Given the description of an element on the screen output the (x, y) to click on. 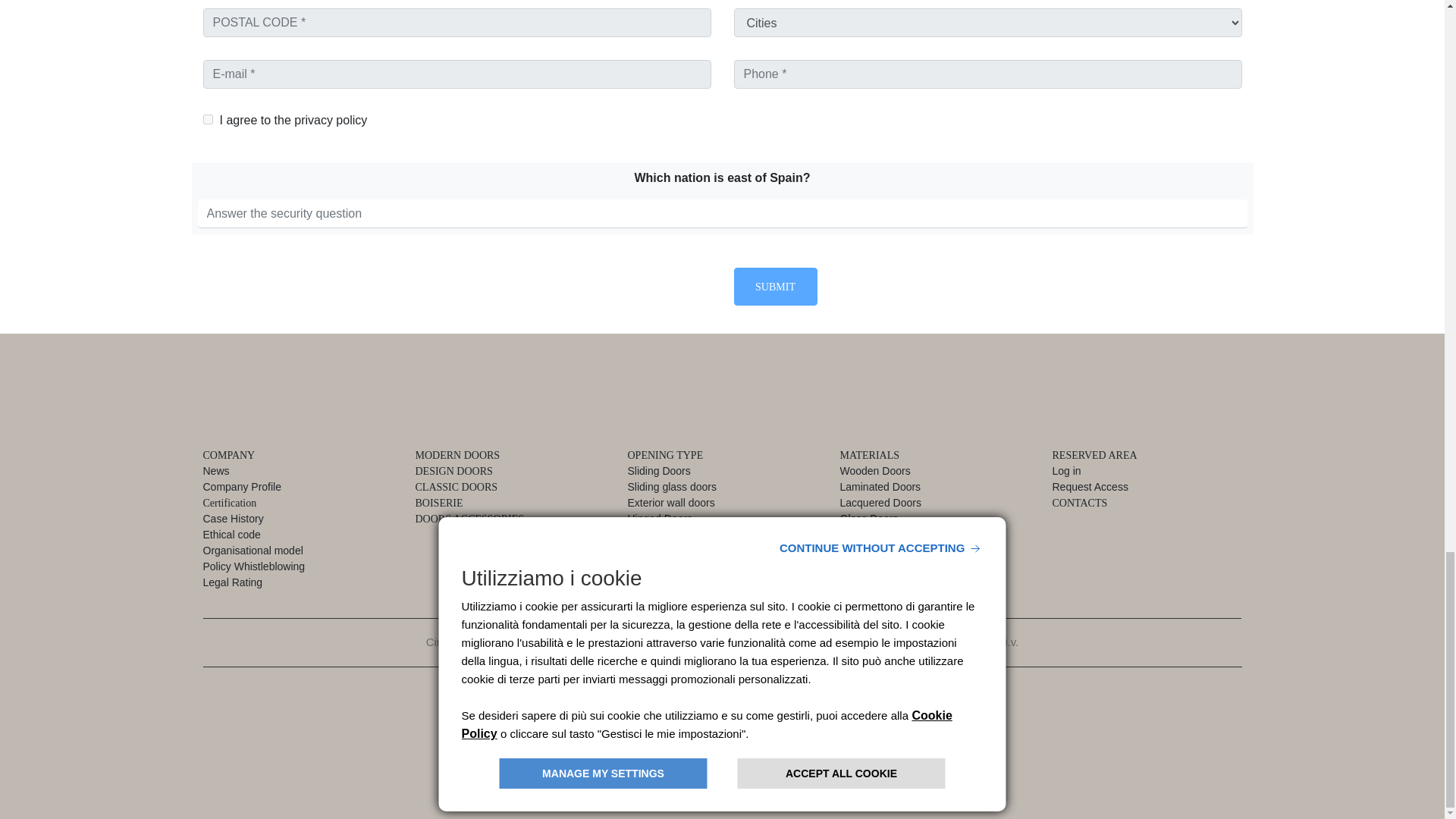
on (207, 119)
